Given the description of an element on the screen output the (x, y) to click on. 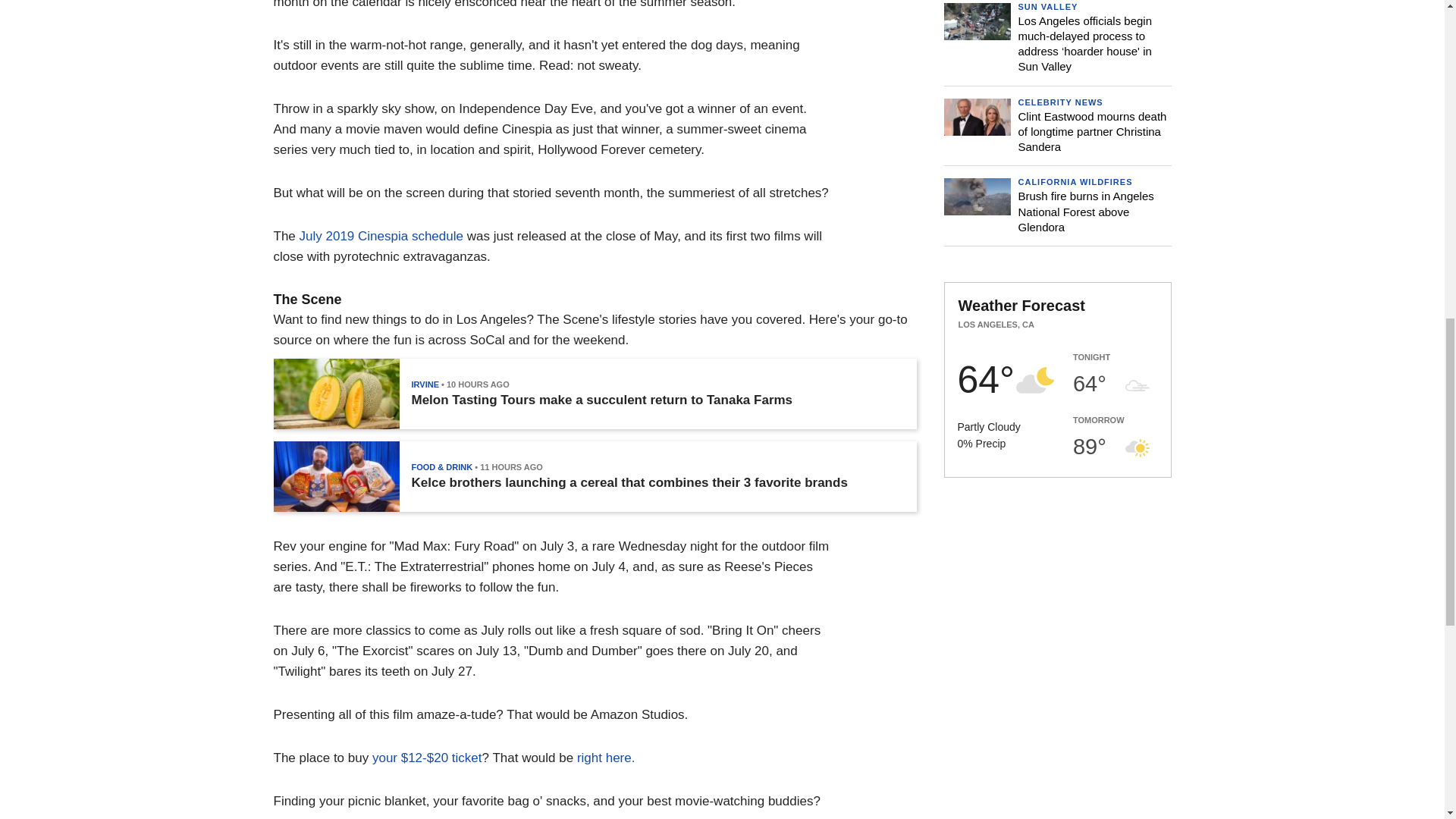
IRVINE (424, 384)
July 2019 Cinespia schedule (381, 236)
Melon Tasting Tours make a succulent return to Tanaka Farms (601, 400)
right here. (605, 757)
